Given the description of an element on the screen output the (x, y) to click on. 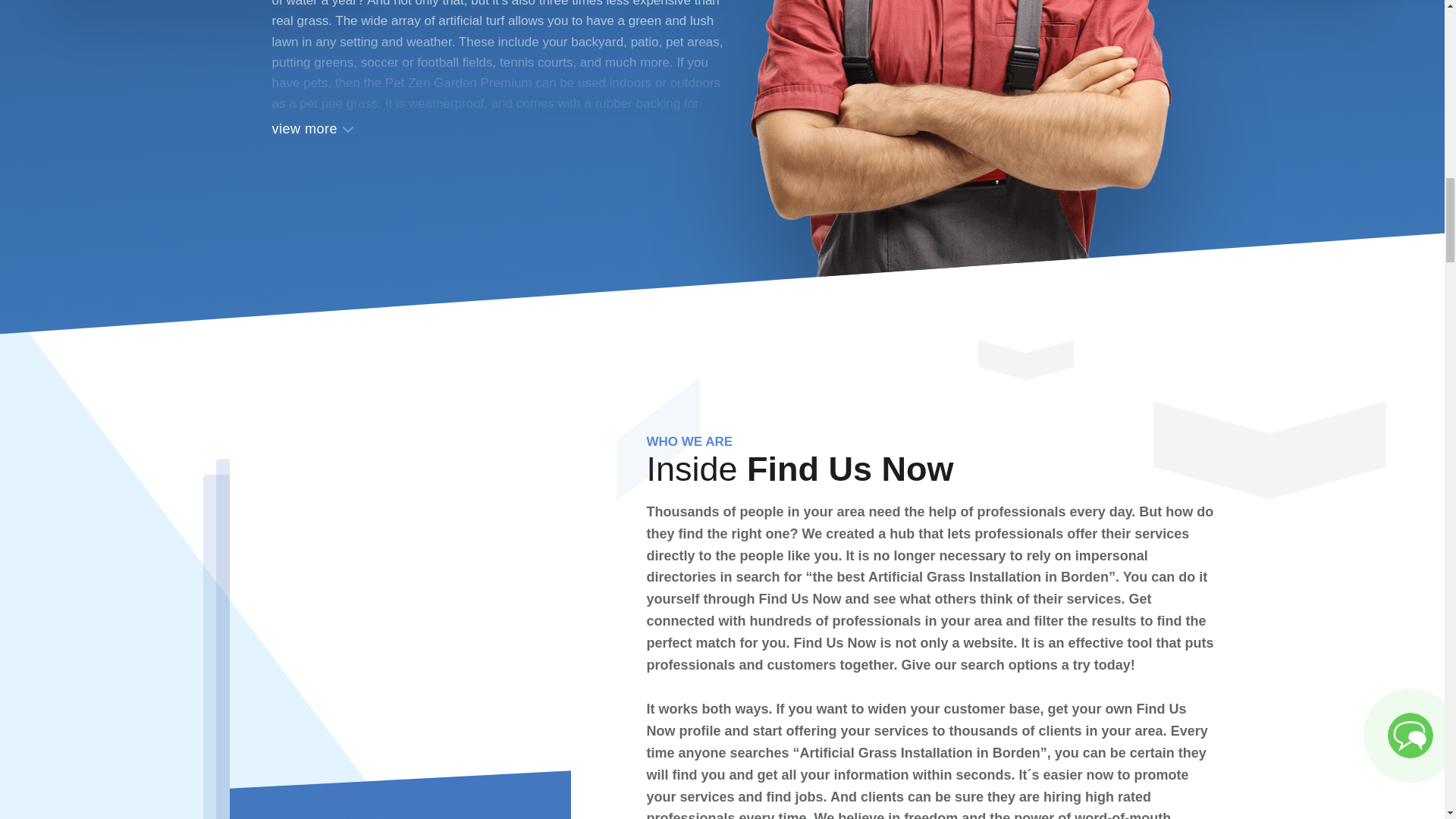
Find Us Now logo (324, 478)
Find Us Now Artificial Grass Installation services (960, 144)
View more about our services (498, 69)
